Given the description of an element on the screen output the (x, y) to click on. 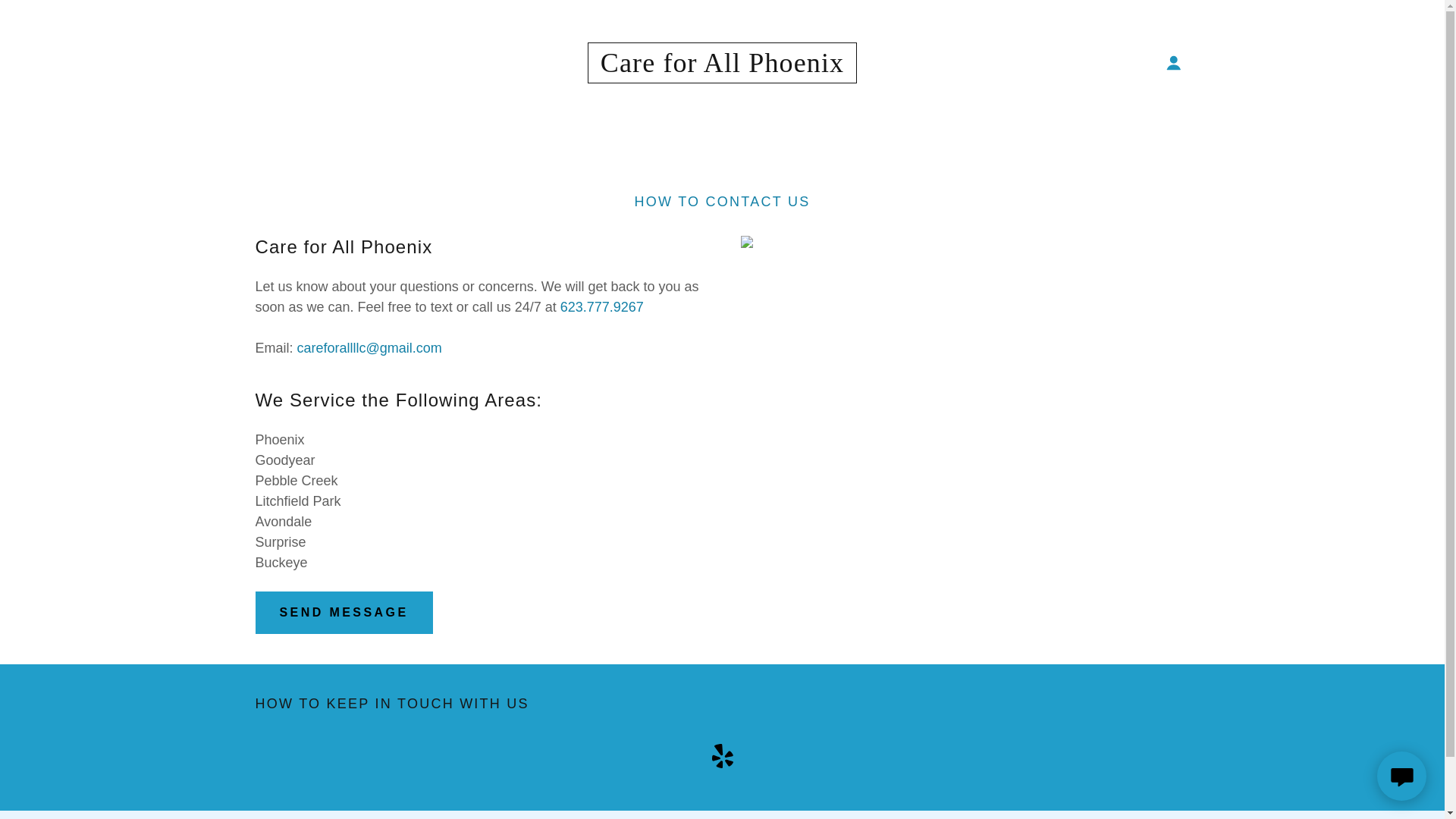
Care for All Phoenix (722, 67)
SEND MESSAGE (343, 612)
623.777.9267 (601, 306)
Care for All Phoenix (722, 67)
